Given the description of an element on the screen output the (x, y) to click on. 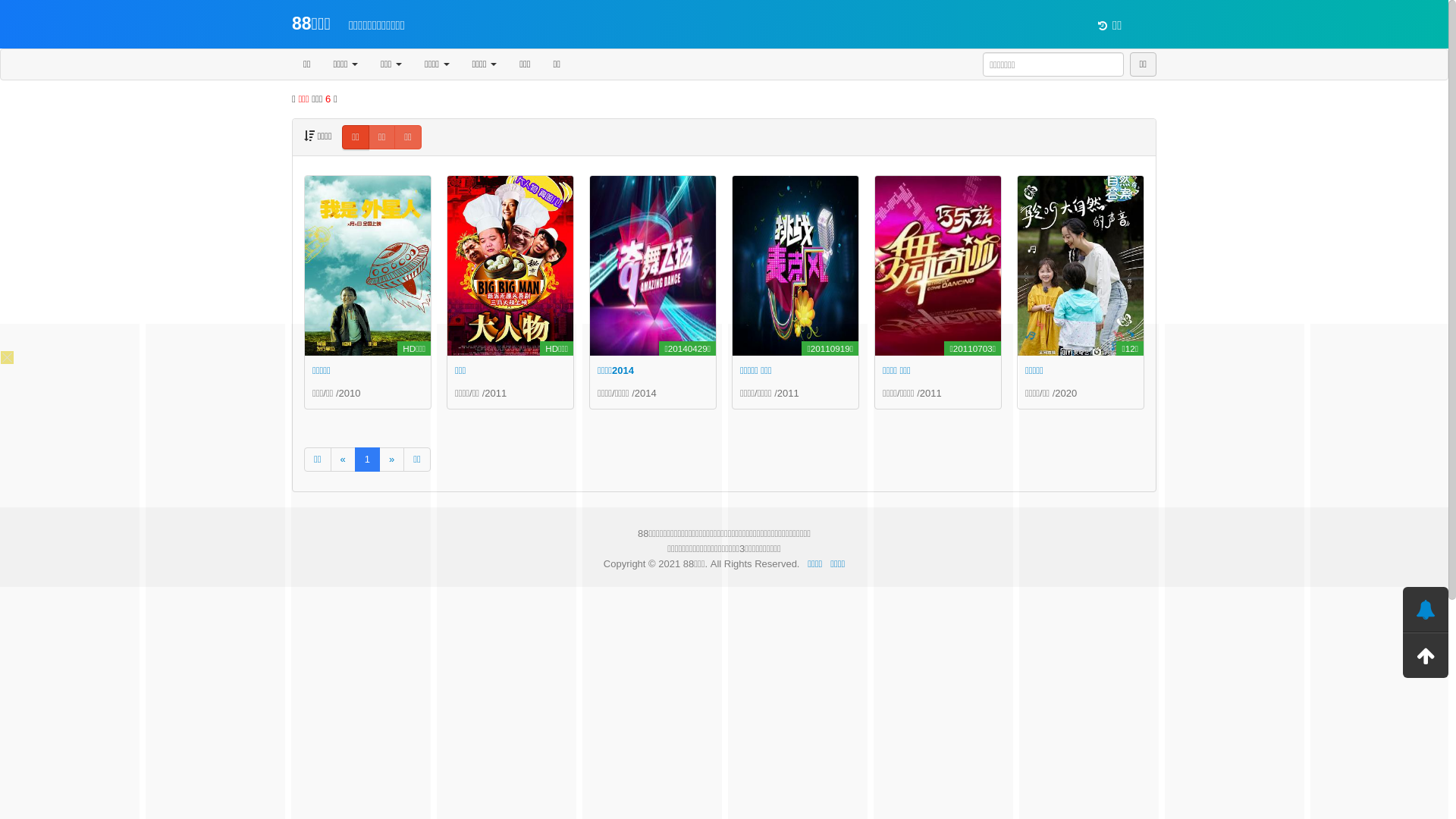
2020 Element type: text (1065, 392)
2014 Element type: text (645, 392)
2010 Element type: text (349, 392)
1 Element type: text (366, 459)
2011 Element type: text (930, 392)
2011 Element type: text (495, 392)
2011 Element type: text (788, 392)
